Given the description of an element on the screen output the (x, y) to click on. 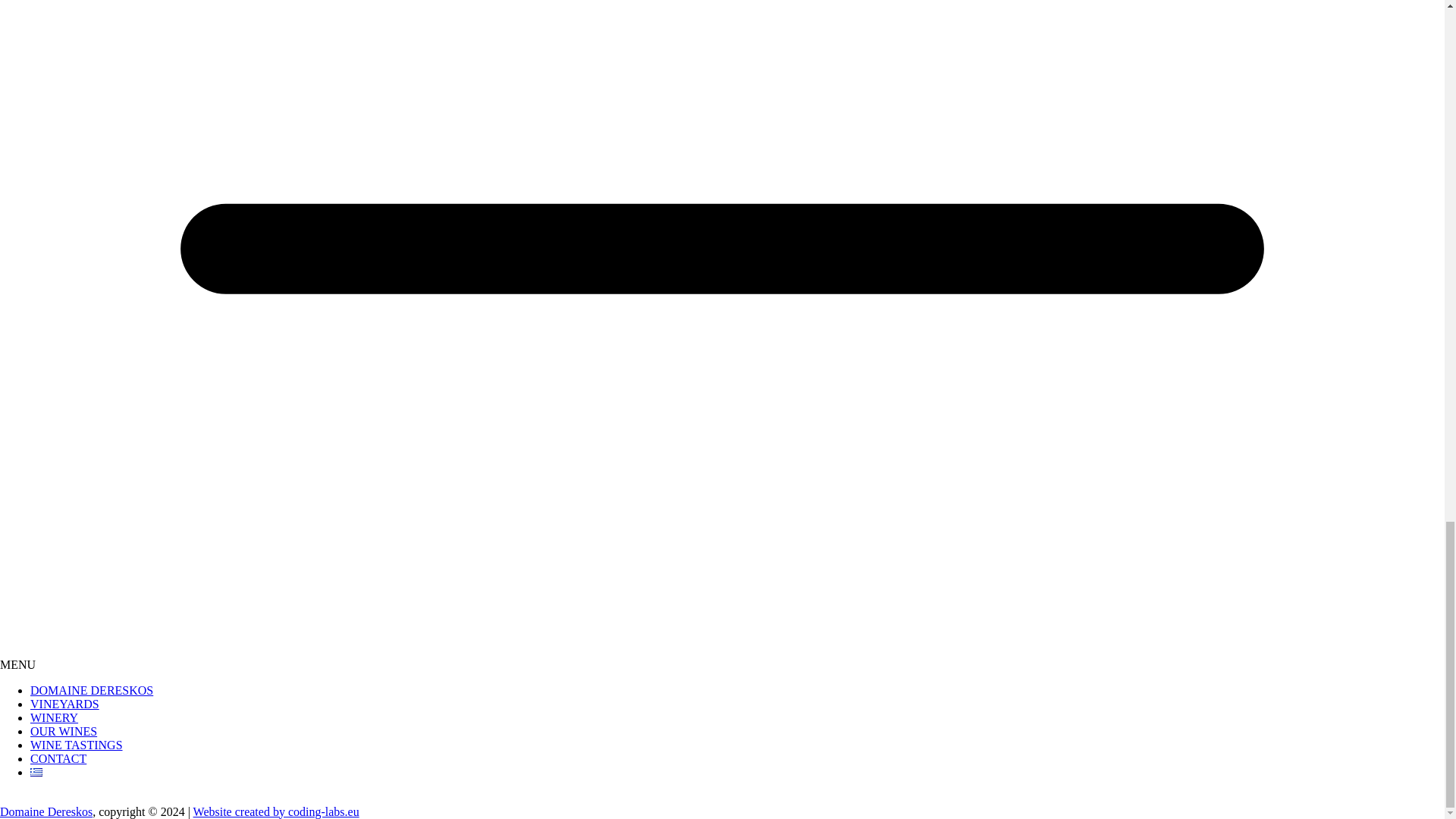
Website created by coding-labs.eu (276, 811)
WINE TASTINGS (76, 744)
VINEYARDS (64, 703)
DOMAINE DERESKOS (91, 689)
Domaine Dereskos (46, 811)
OUR WINES (63, 730)
CONTACT (57, 758)
WINERY (54, 717)
